Given the description of an element on the screen output the (x, y) to click on. 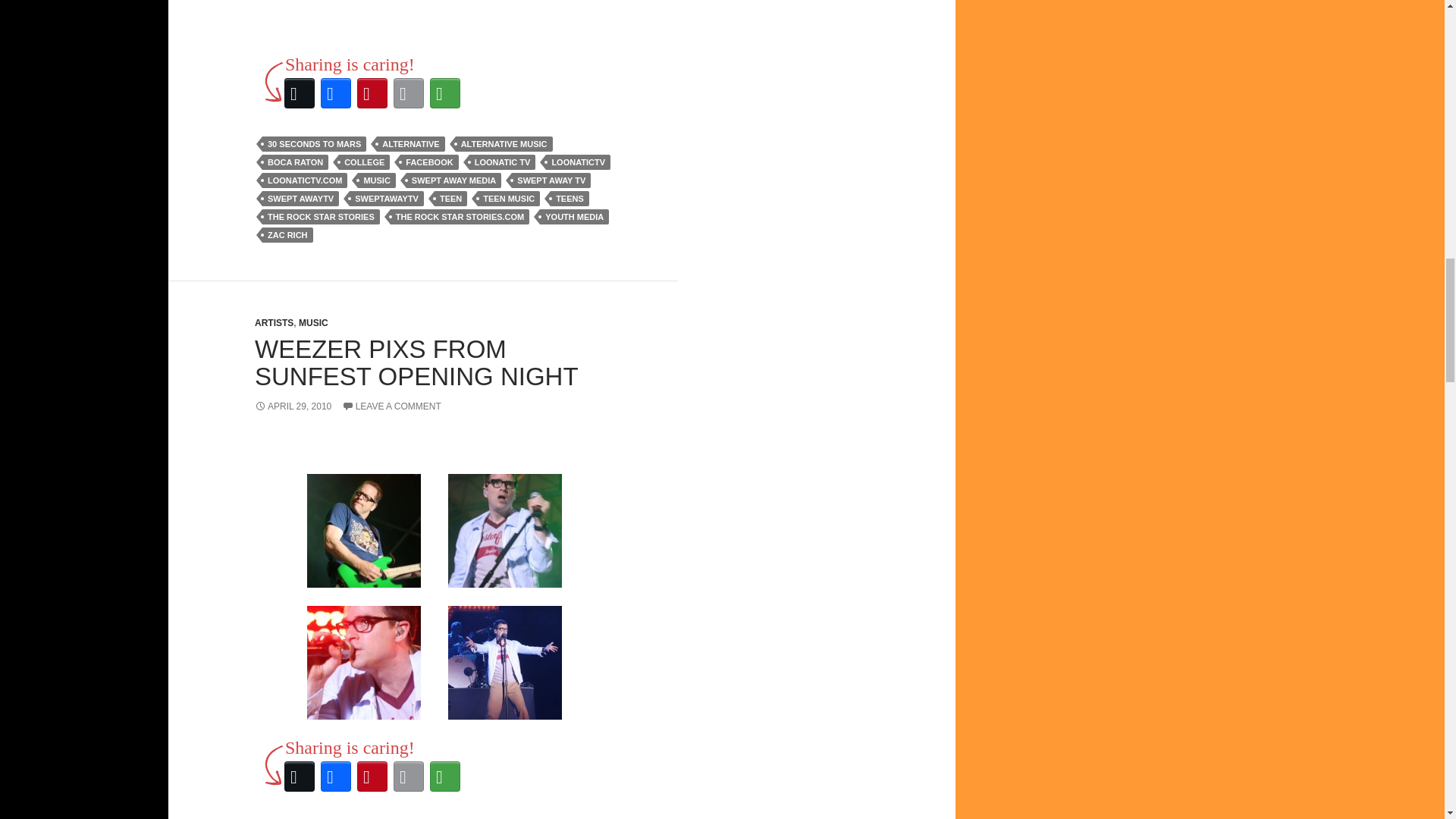
Email This (408, 93)
Facebook (335, 93)
More Options (444, 93)
Pinterest (371, 93)
